Given the description of an element on the screen output the (x, y) to click on. 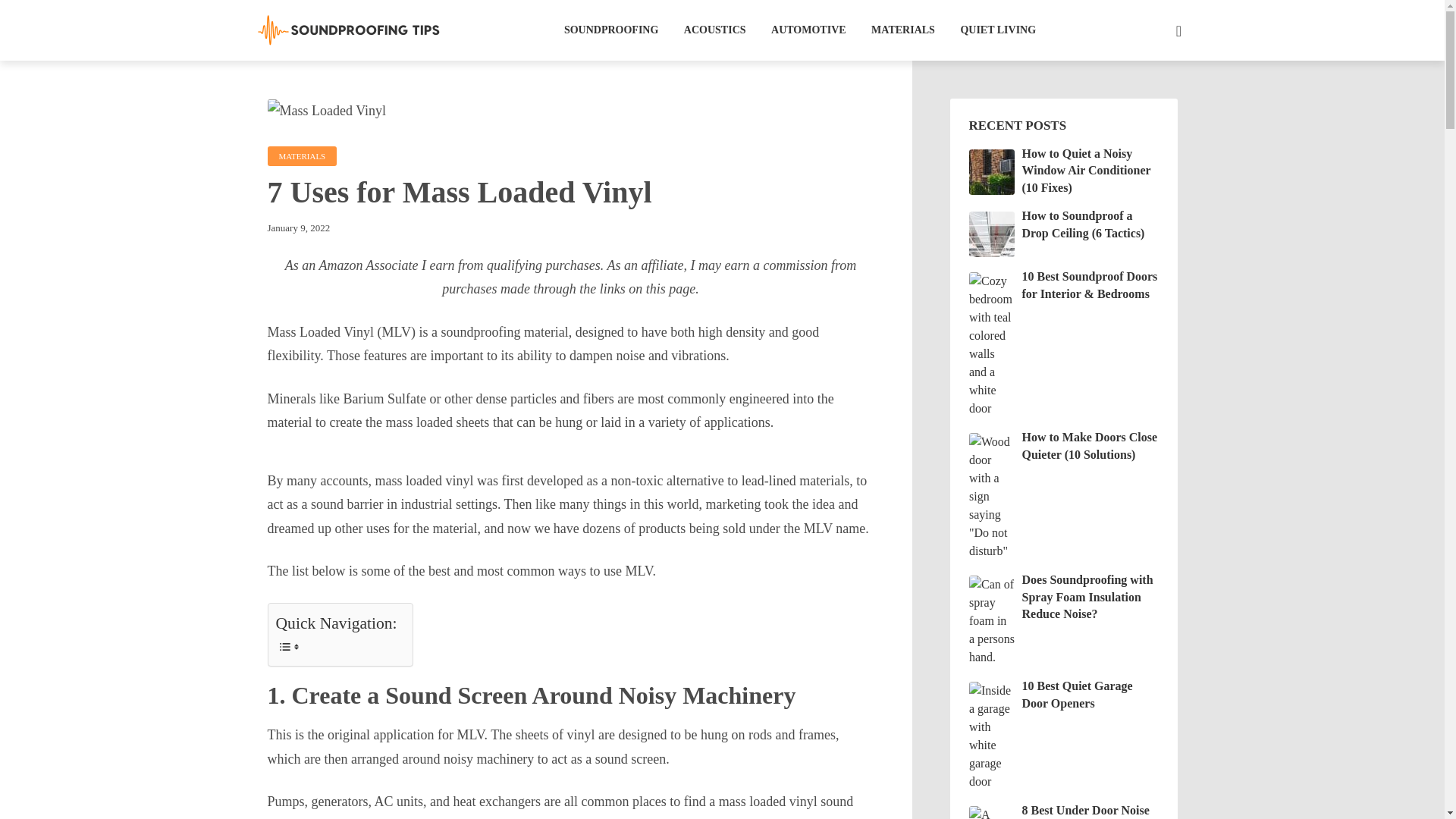
MATERIALS (301, 156)
ACOUSTICS (714, 30)
SOUNDPROOFING (611, 30)
AUTOMOTIVE (808, 30)
QUIET LIVING (997, 30)
MATERIALS (902, 30)
